Given the description of an element on the screen output the (x, y) to click on. 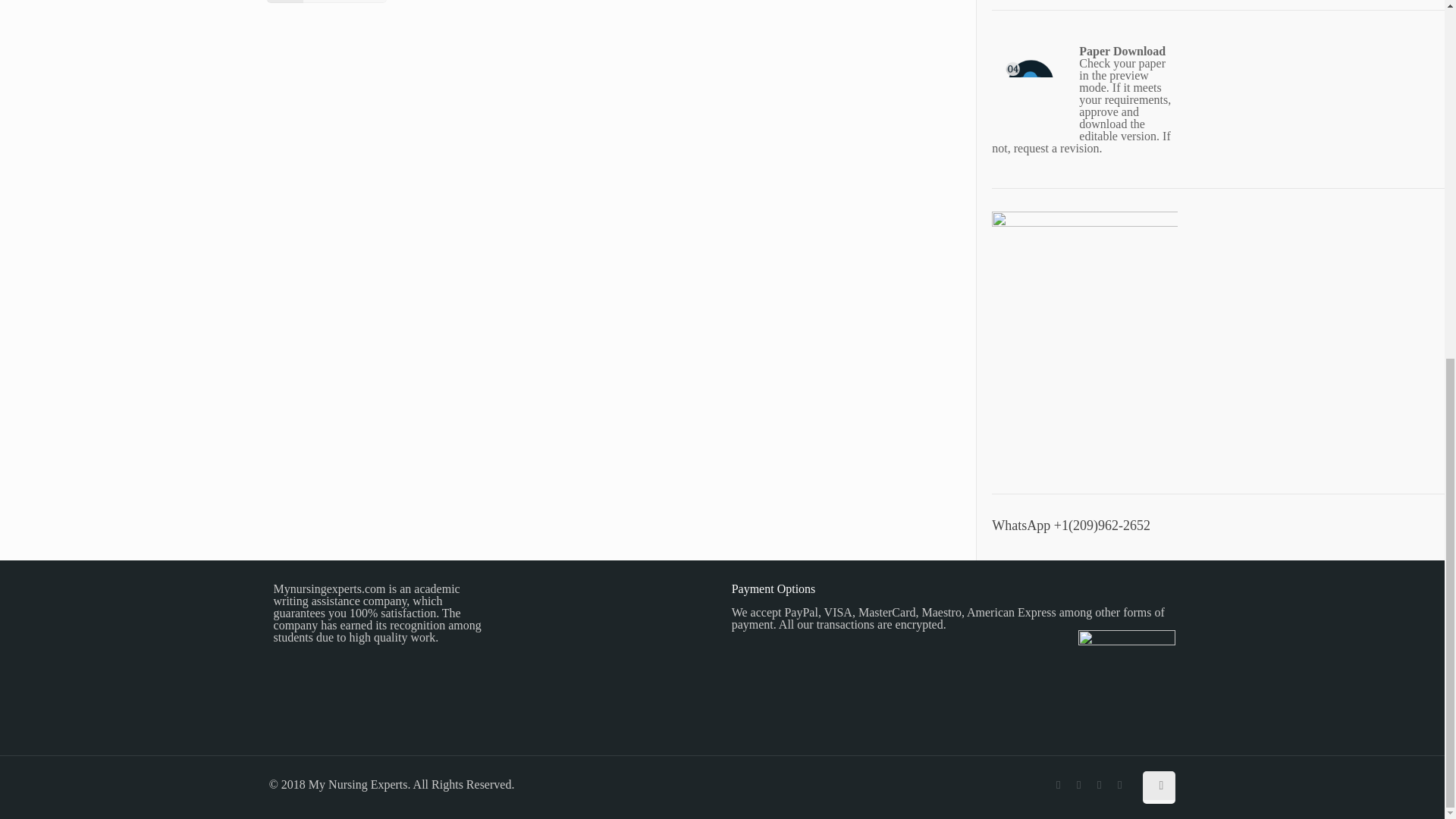
Facebook (1057, 784)
Read more (326, 1)
LinkedIn (1119, 784)
Twitter (1098, 784)
